Given the description of an element on the screen output the (x, y) to click on. 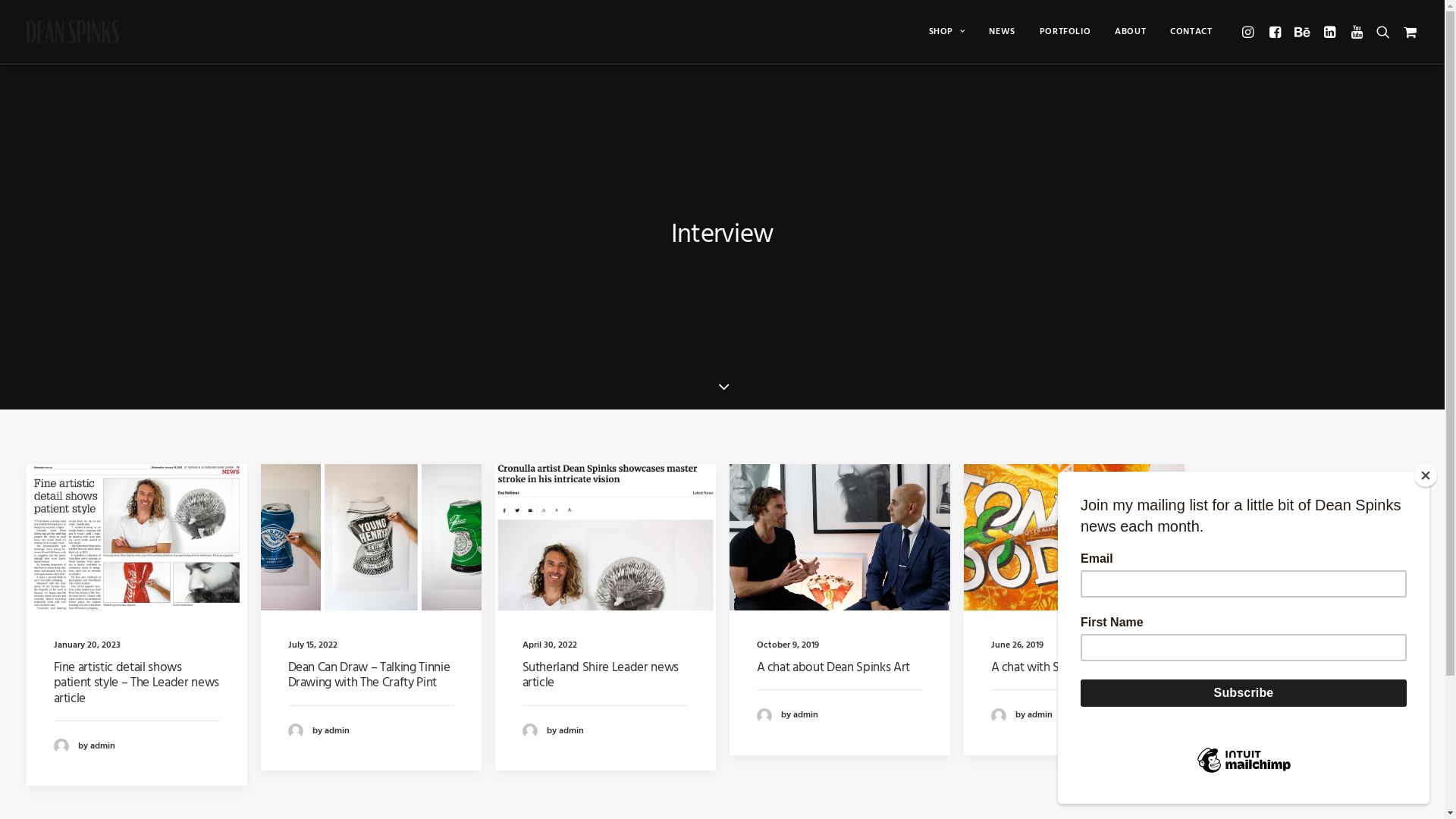
CONTACT Element type: text (1185, 31)
ABOUT Element type: text (1130, 31)
Sutherland Shire Leader news article Element type: text (599, 675)
NEWS Element type: text (1001, 31)
by admin Element type: text (83, 746)
PORTFOLIO Element type: text (1065, 31)
A chat about Dean Spinks Art Element type: text (833, 667)
by admin Element type: text (1020, 715)
cart Element type: hover (1407, 31)
SHOP Element type: text (946, 31)
by admin Element type: text (318, 731)
by admin Element type: text (787, 715)
A chat with Stone & Wood Element type: text (1061, 667)
by admin Element type: text (552, 731)
